Given the description of an element on the screen output the (x, y) to click on. 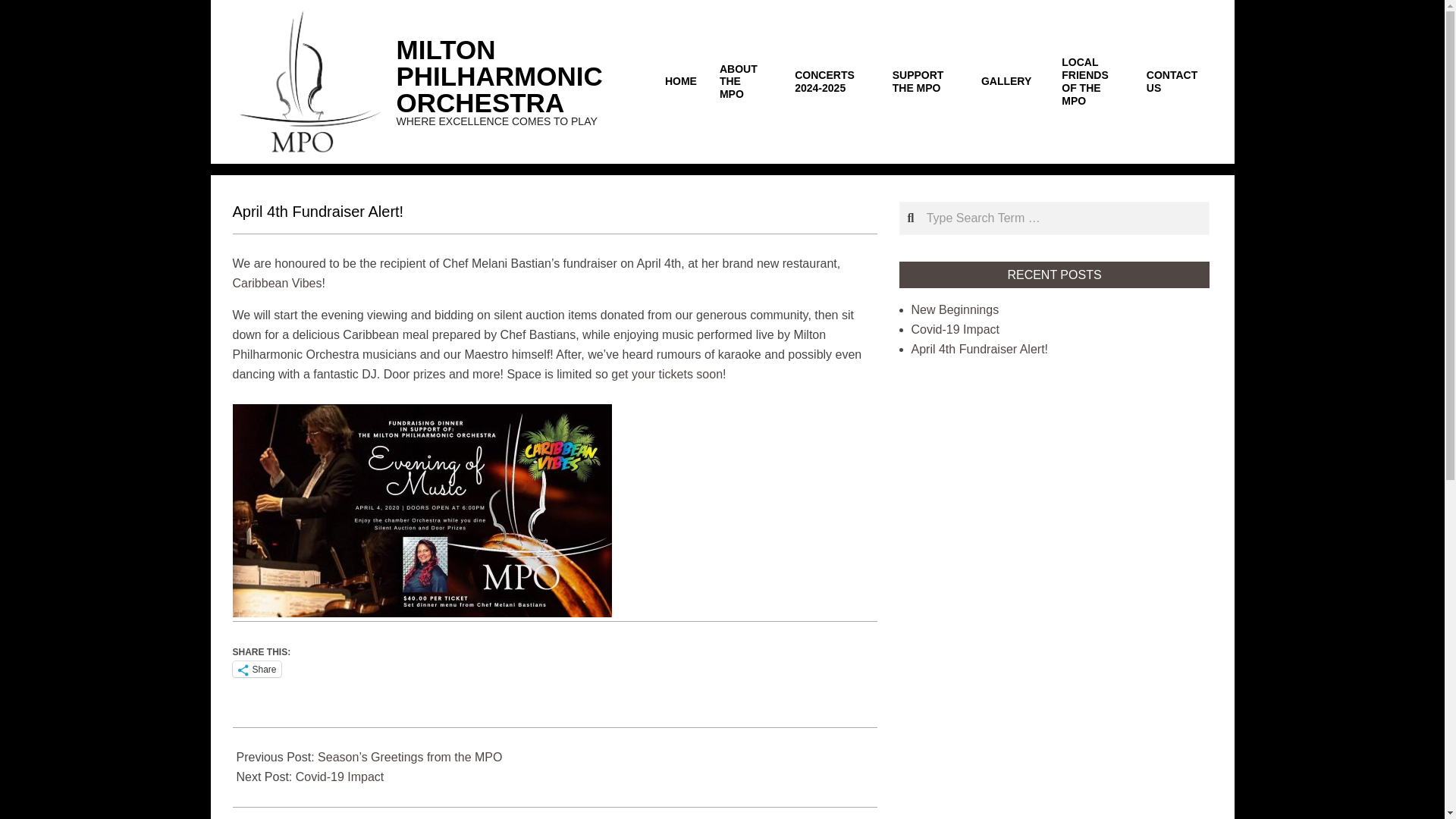
Caribbean Vibes (276, 282)
MILTON PHILHARMONIC ORCHESTRA (499, 76)
GALLERY (1009, 81)
CONCERTS 2024-2025 (831, 81)
CONTACT US (1173, 81)
ABOUT THE MPO (745, 81)
HOME (680, 81)
SUPPORT THE MPO (924, 81)
LOCAL FRIENDS OF THE MPO (1092, 81)
get your tickets soon (666, 373)
